Given the description of an element on the screen output the (x, y) to click on. 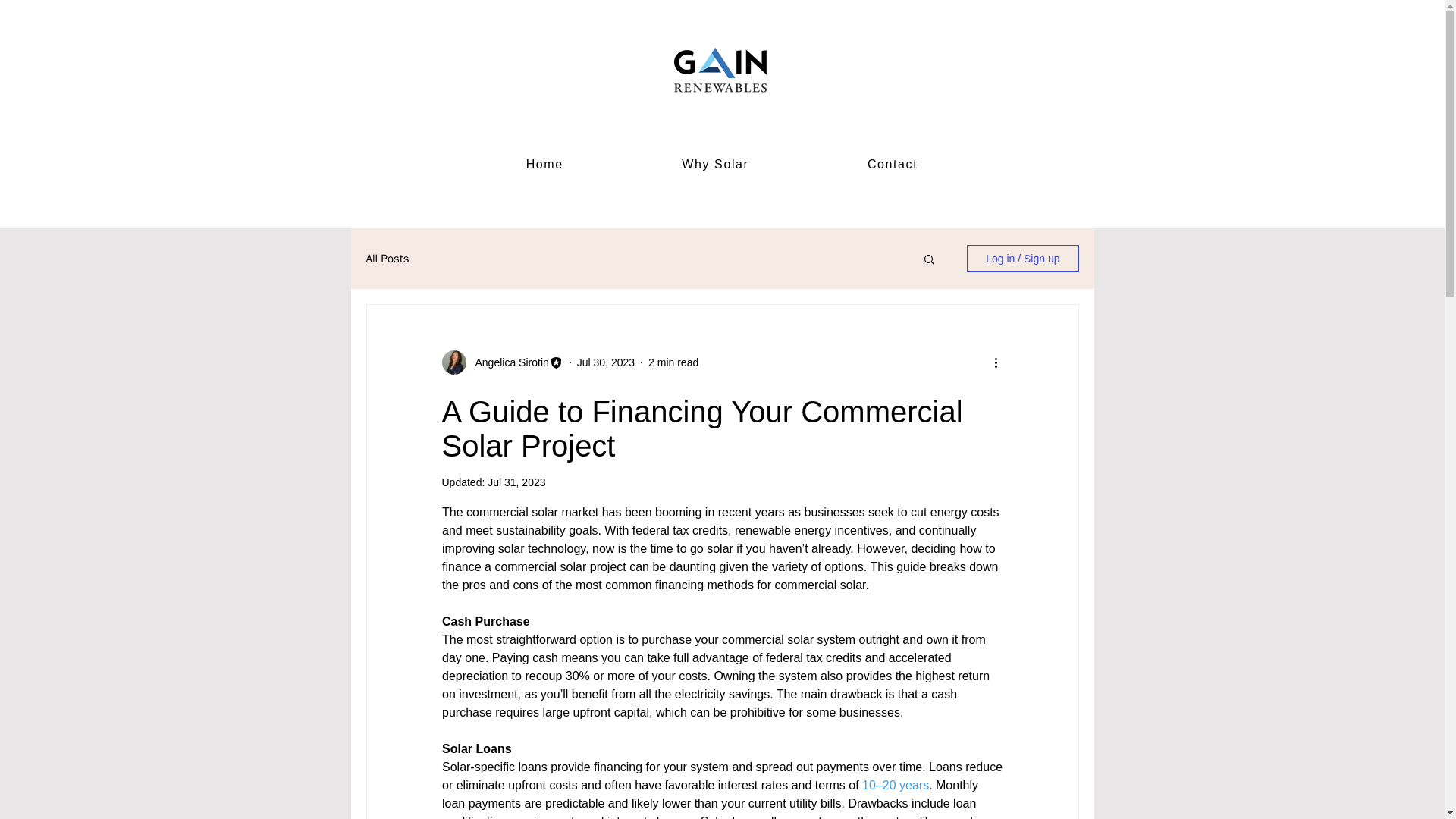
Jul 31, 2023 (515, 481)
All Posts (387, 258)
Angelica Sirotin (506, 362)
Home (545, 164)
Angelica Sirotin (501, 362)
Jul 30, 2023 (605, 362)
Why Solar (715, 164)
Contact (892, 164)
2 min read (672, 362)
